Given the description of an element on the screen output the (x, y) to click on. 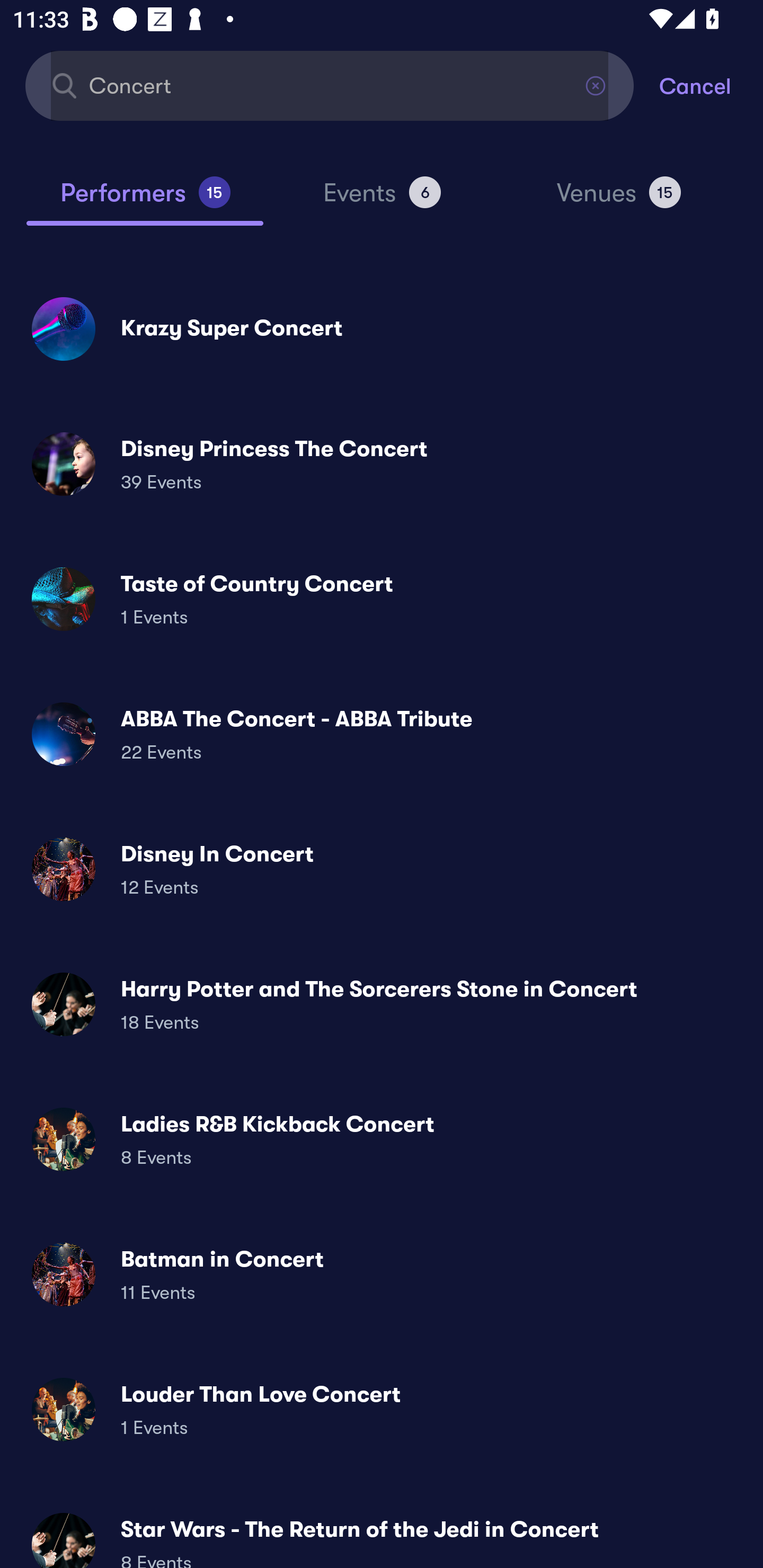
Concert Find (329, 85)
Concert Find (329, 85)
Cancel (711, 85)
Performers 15 (144, 200)
Events 6 (381, 200)
Venues 15 (618, 200)
Krazy Super Concert (381, 328)
Disney Princess The Concert 39 Events (381, 464)
Taste of Country Concert 1 Events (381, 598)
ABBA The Concert - ABBA Tribute 22 Events (381, 734)
Disney In Concert 12 Events (381, 869)
Ladies R&B Kickback Concert 8 Events (381, 1138)
Batman in Concert 11 Events (381, 1273)
Louder Than Love Concert 1 Events (381, 1409)
